Given the description of an element on the screen output the (x, y) to click on. 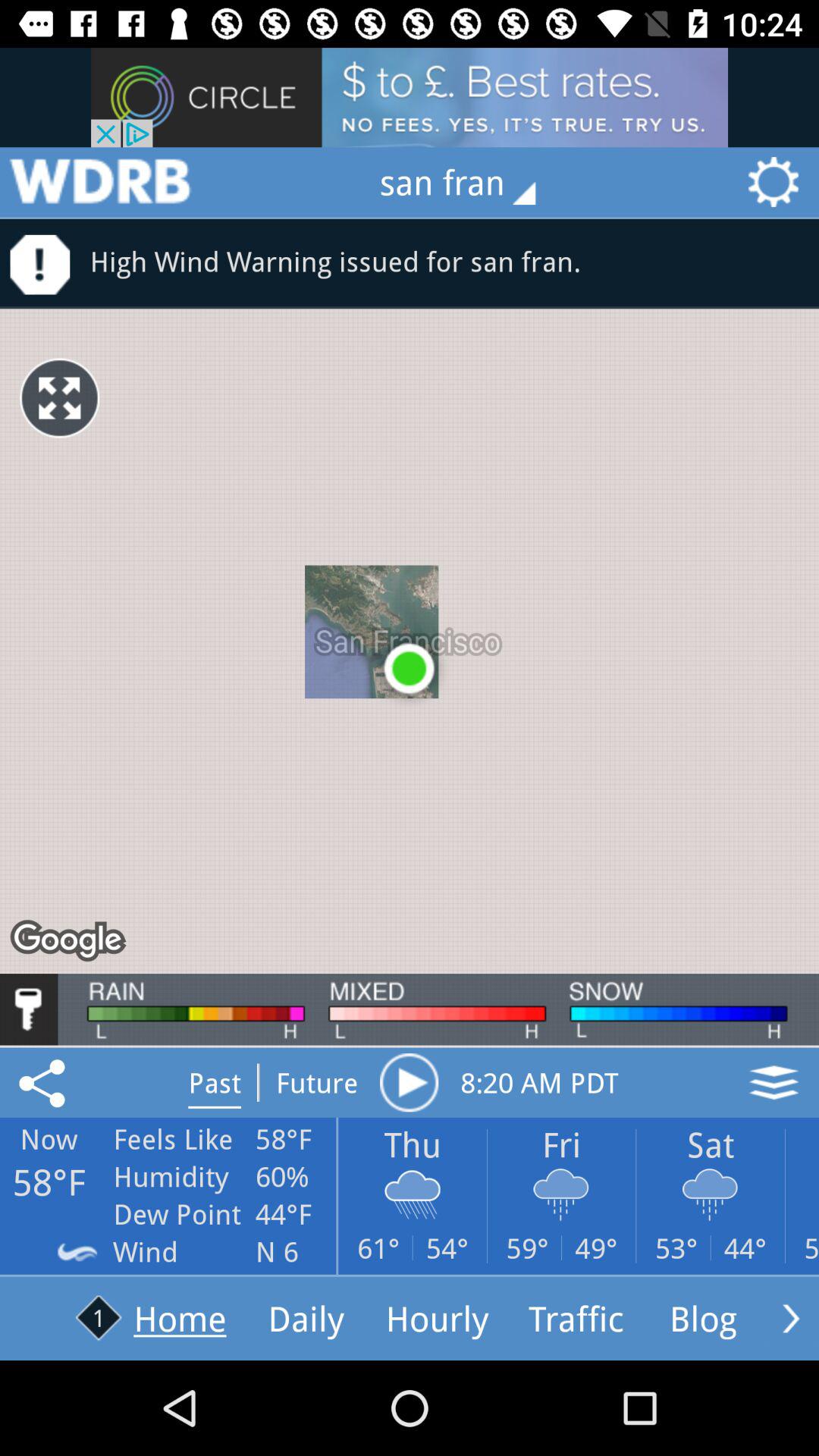
security/ key icon (29, 1009)
